Given the description of an element on the screen output the (x, y) to click on. 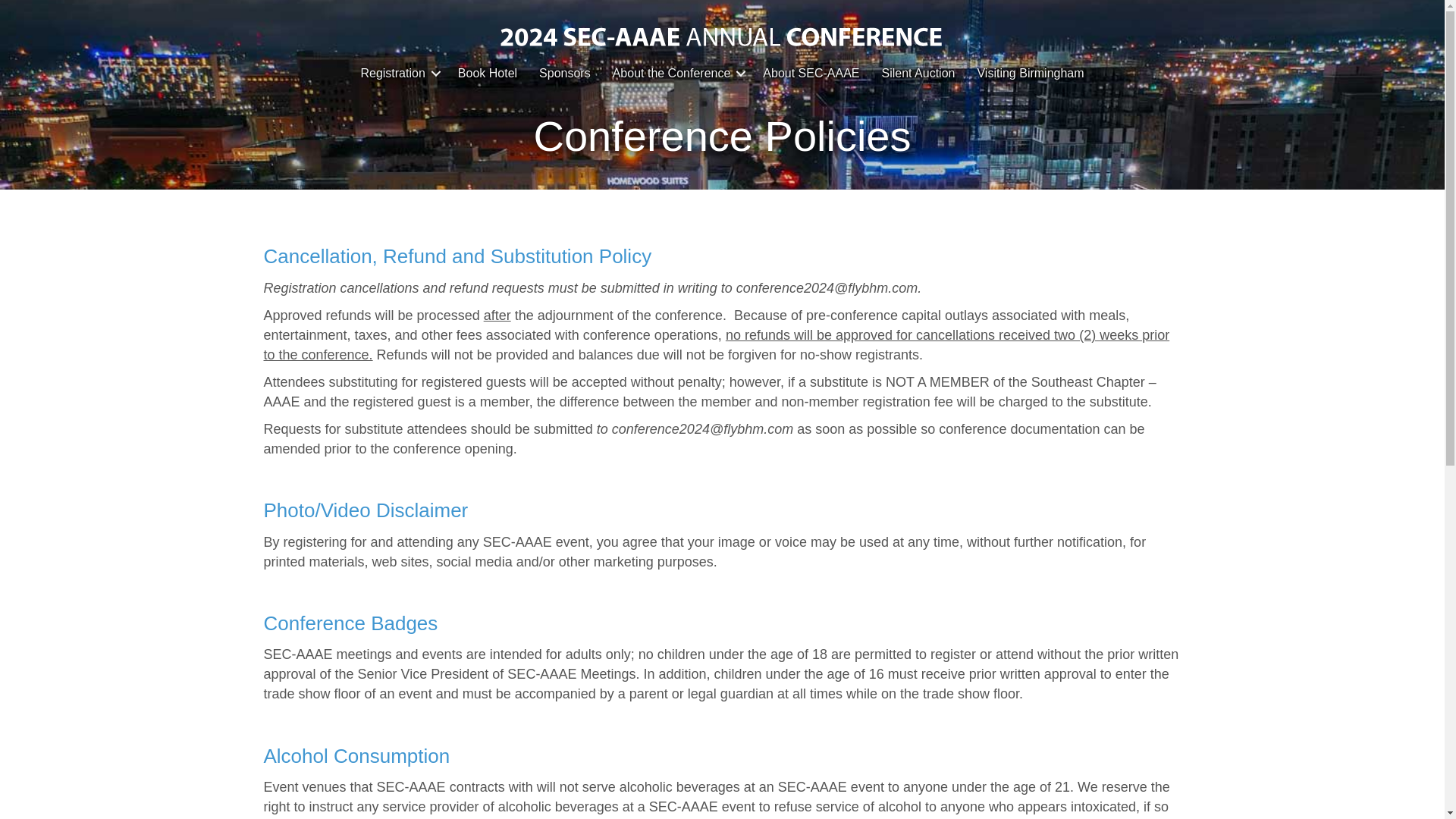
About SEC-AAAE (810, 73)
Visiting Birmingham (1030, 73)
Registration (397, 73)
Silent Auction (918, 73)
About the Conference (677, 73)
Main-title-to-center-v3 (721, 42)
Book Hotel (486, 73)
Sponsors (564, 73)
